Given the description of an element on the screen output the (x, y) to click on. 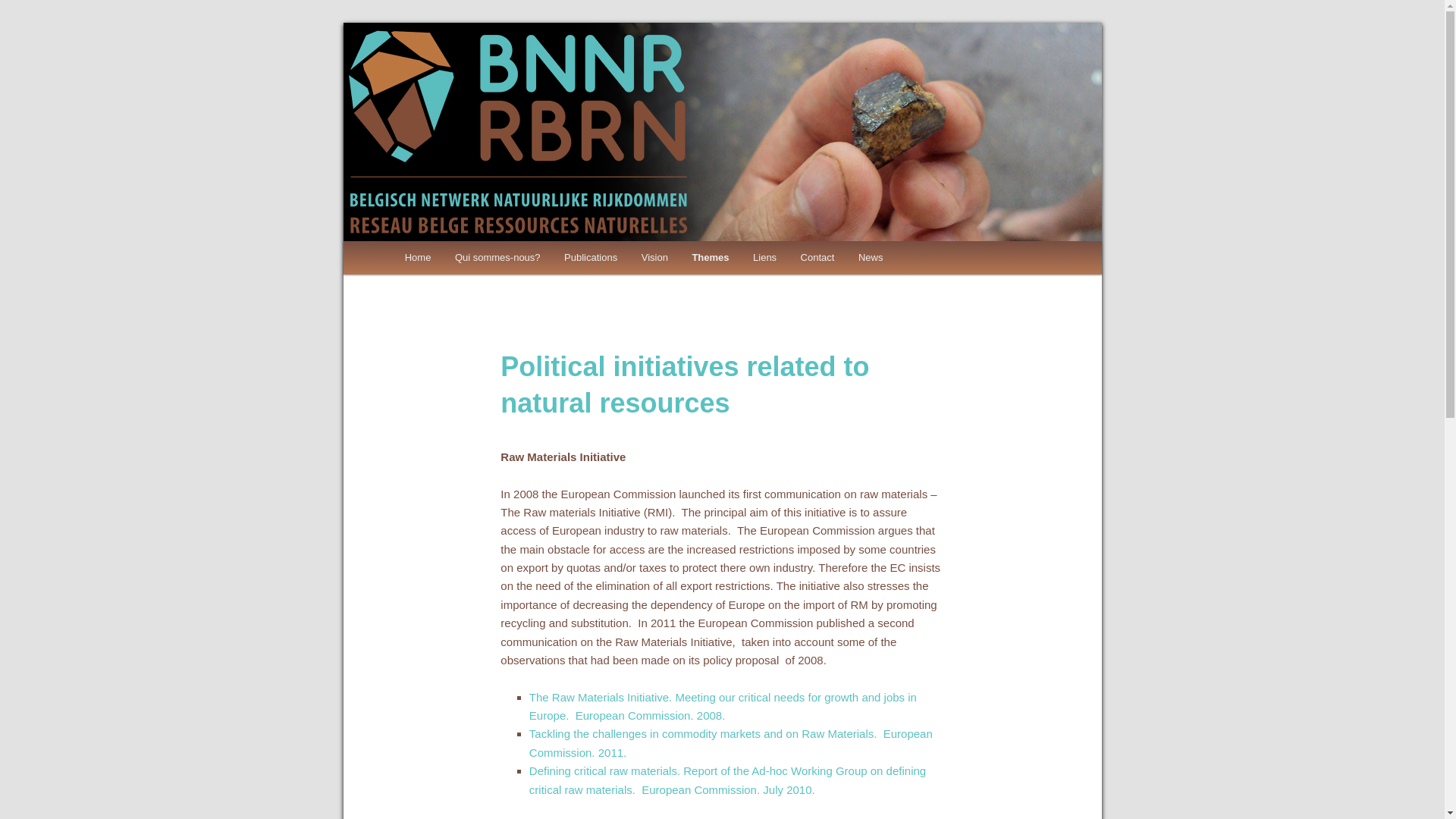
Aller au contenu secondaire Element type: text (484, 260)
Liens Element type: text (764, 257)
Publications Element type: text (590, 257)
Qui sommes-nous? Element type: text (497, 257)
Contact Element type: text (817, 257)
Aller au contenu principal Element type: text (477, 260)
Home Element type: text (417, 257)
Vision Element type: text (654, 257)
Themes Element type: text (710, 257)
News Element type: text (870, 257)
